Given the description of an element on the screen output the (x, y) to click on. 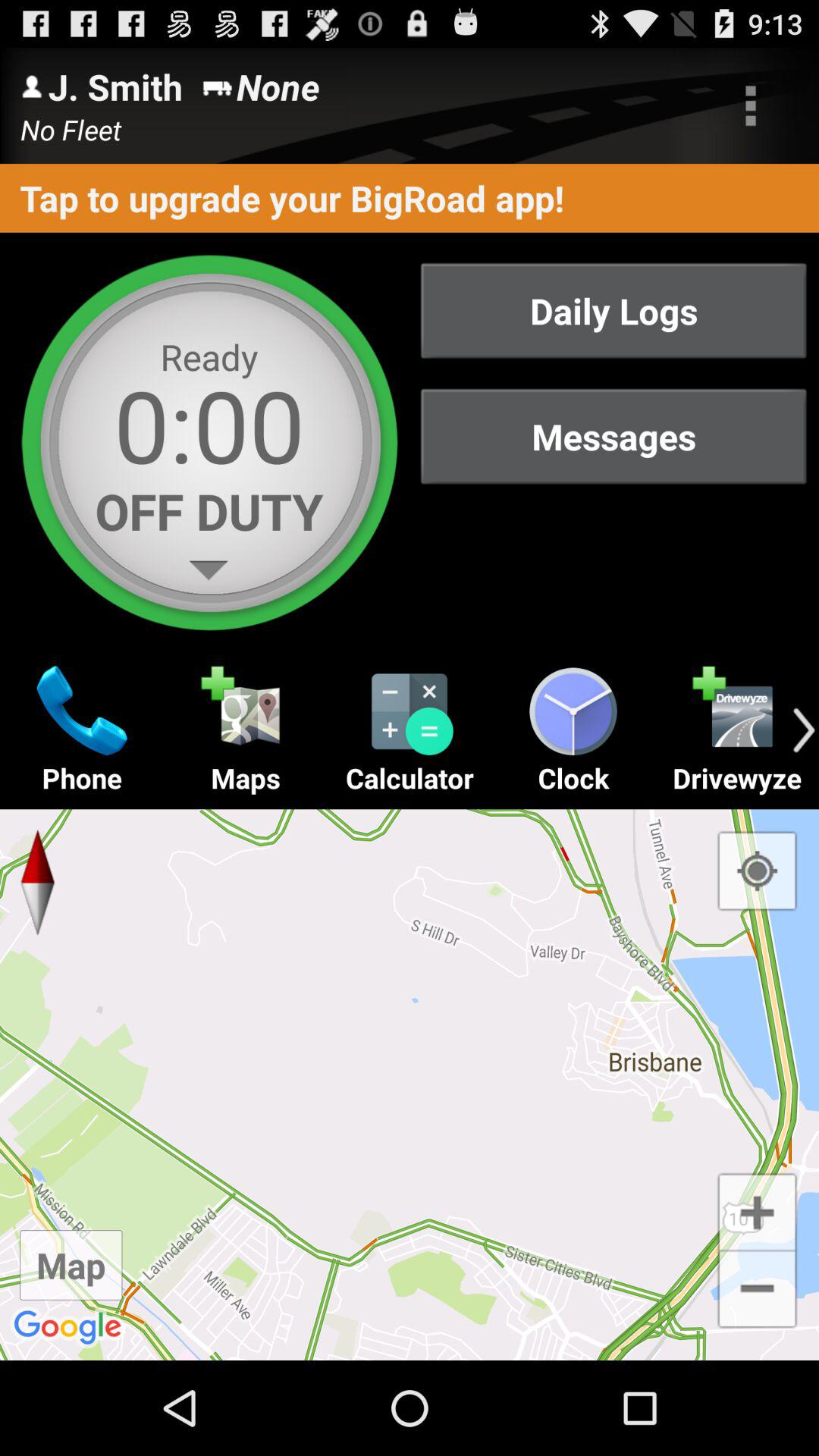
jump until the messages button (613, 436)
